Given the description of an element on the screen output the (x, y) to click on. 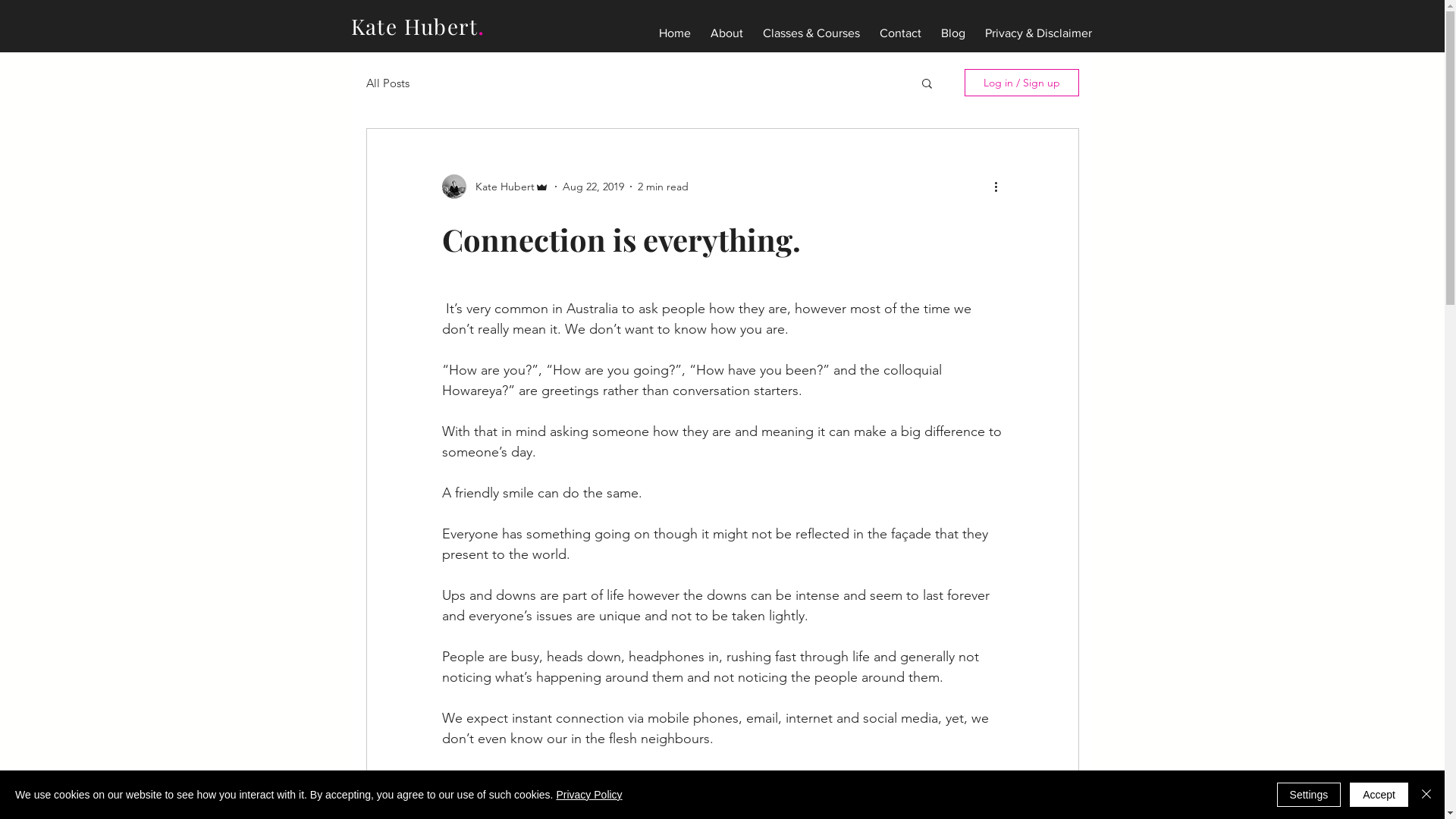
Home Element type: text (674, 25)
Privacy & Disclaimer Element type: text (1038, 25)
Blog Element type: text (953, 25)
Log in / Sign up Element type: text (1021, 82)
Kate Hubert. Element type: text (416, 26)
Privacy Policy Element type: text (588, 794)
Settings Element type: text (1309, 794)
Classes & Courses Element type: text (810, 25)
All Posts Element type: text (386, 82)
About Element type: text (726, 25)
Accept Element type: text (1378, 794)
Contact Element type: text (899, 25)
